Given the description of an element on the screen output the (x, y) to click on. 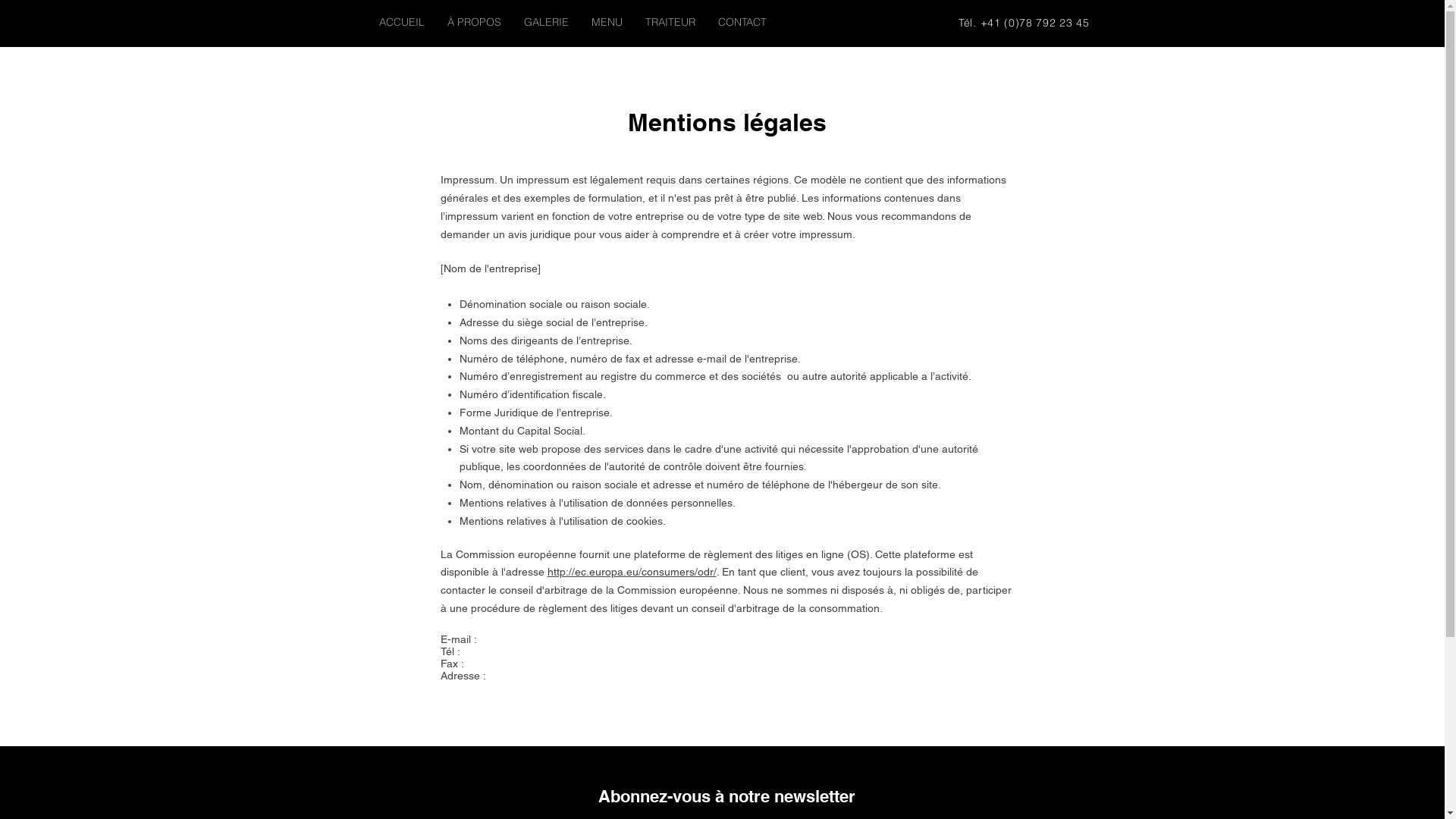
CONTACT Element type: text (742, 22)
ACCUEIL Element type: text (401, 22)
GALERIE Element type: text (546, 22)
http://ec.europa.eu/consumers/odr/ Element type: text (631, 571)
TRAITEUR Element type: text (669, 22)
MENU Element type: text (606, 22)
